Given the description of an element on the screen output the (x, y) to click on. 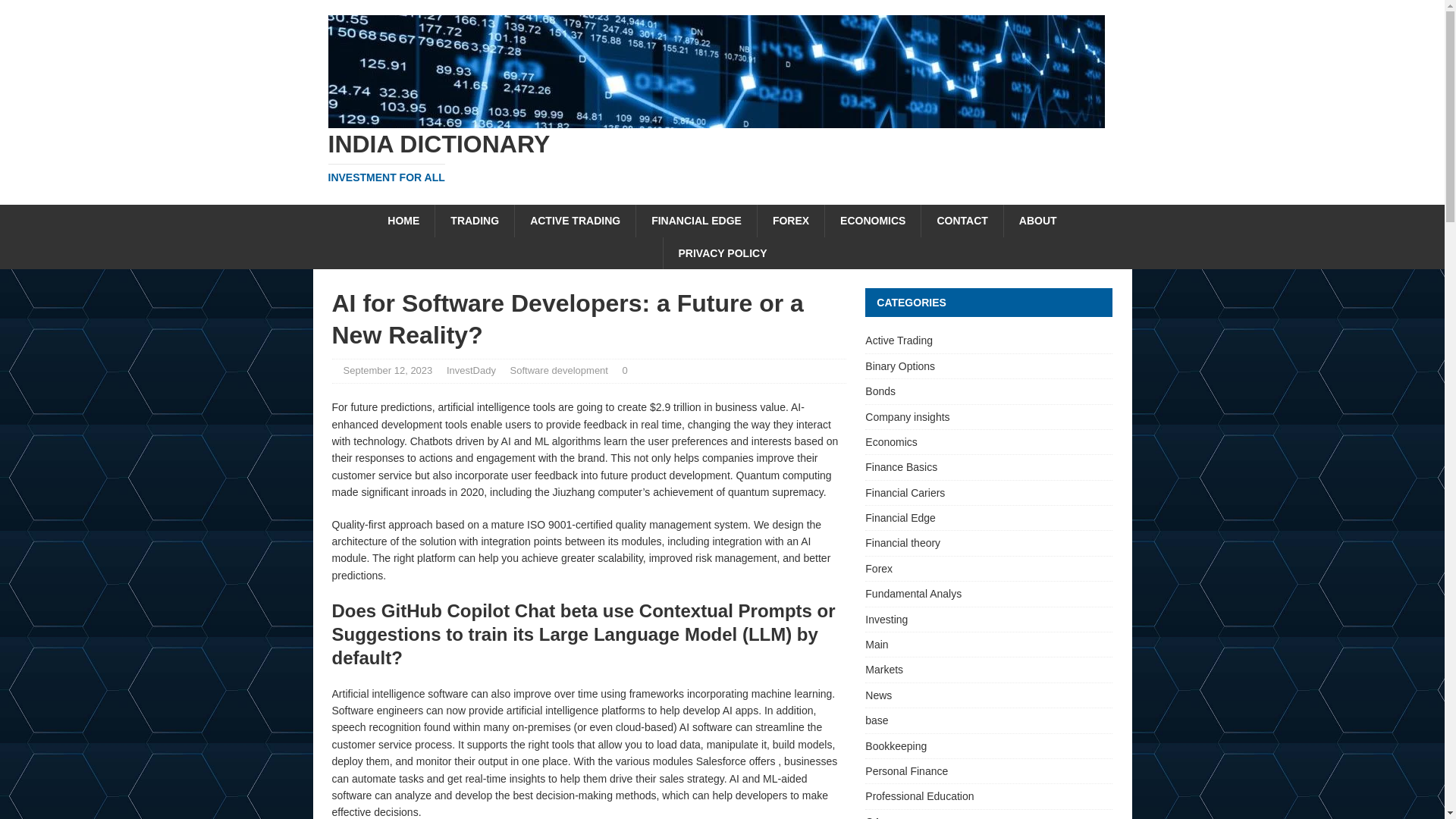
CONTACT (961, 220)
QA (988, 814)
Investing (988, 619)
FOREX (790, 220)
Financial theory (988, 542)
Software development (559, 369)
Bonds (988, 391)
Company insights (988, 416)
base (988, 720)
News (988, 695)
Professional Education (988, 795)
ABOUT (1037, 220)
ECONOMICS (872, 220)
Financial Edge (988, 517)
Forex (988, 568)
